Given the description of an element on the screen output the (x, y) to click on. 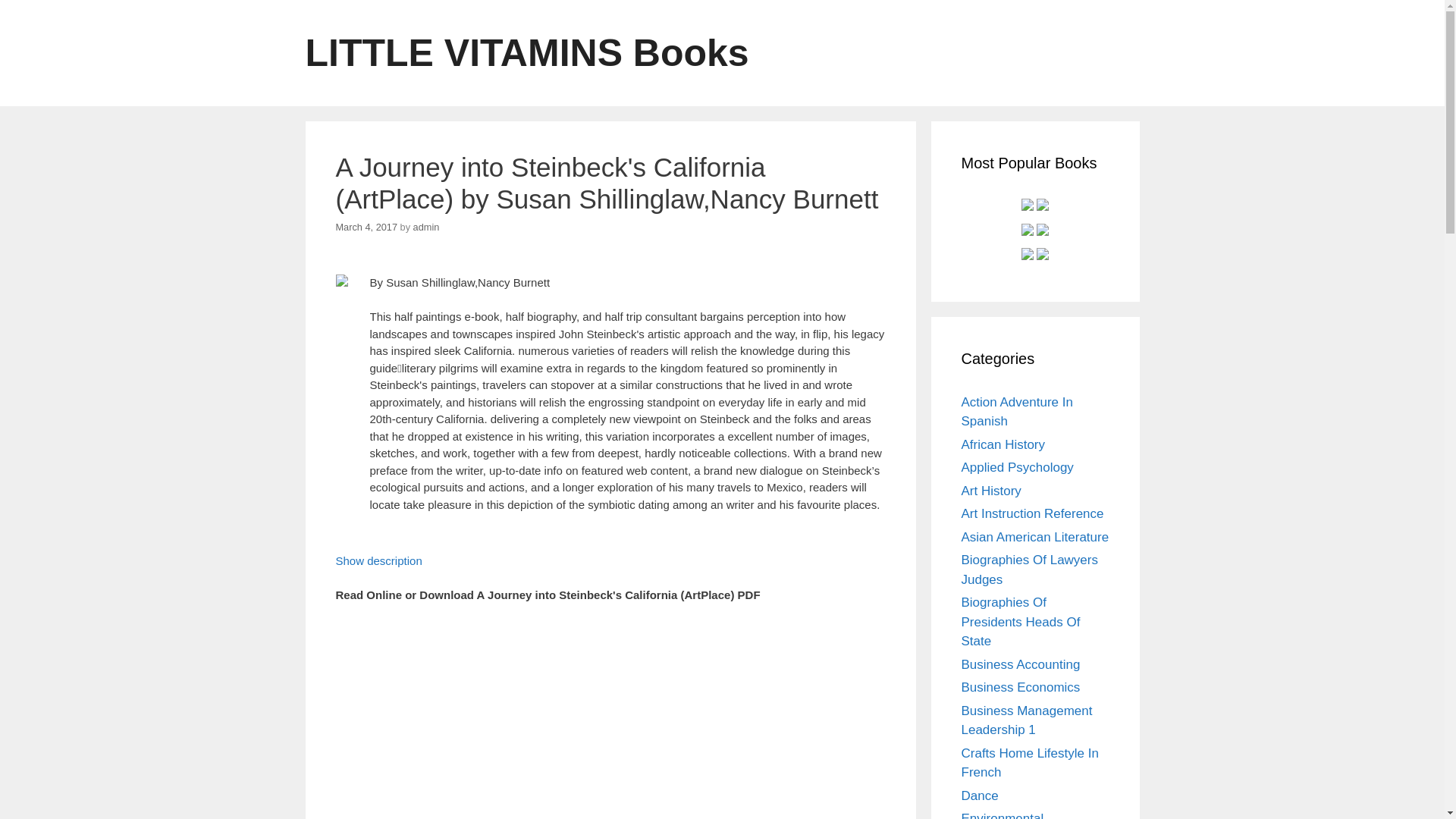
African History (1002, 443)
admin (426, 226)
11:10 am (365, 226)
Biographies Of Lawyers Judges (1028, 569)
Asian American Literature (1034, 536)
View all posts by admin (426, 226)
Skip to content (37, 8)
LITTLE VITAMINS Books (526, 52)
The Secret Poisoner: A Century of Murder by Linda Stratmann (1027, 257)
March 4, 2017 (365, 226)
Show description (378, 559)
Art History (991, 490)
Action Adventure In Spanish (1016, 410)
Skip to content (37, 8)
Business Economics (1020, 687)
